Given the description of an element on the screen output the (x, y) to click on. 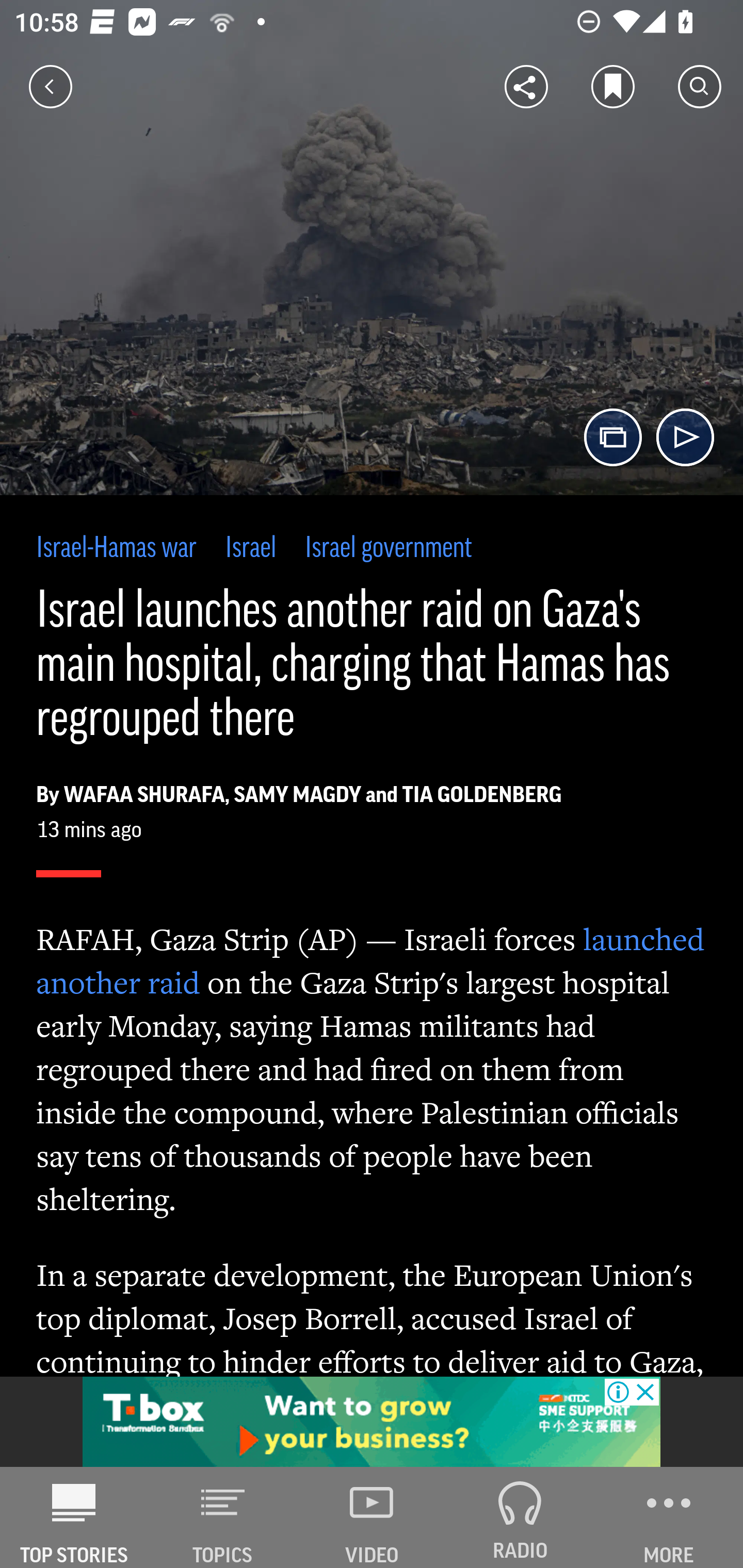
Israel-Hamas war (117, 549)
Israel (250, 549)
Israel government (388, 549)
launched another raid (370, 960)
tbox%3FDCSext (371, 1421)
AP News TOP STORIES (74, 1517)
TOPICS (222, 1517)
VIDEO (371, 1517)
RADIO (519, 1517)
MORE (668, 1517)
